Given the description of an element on the screen output the (x, y) to click on. 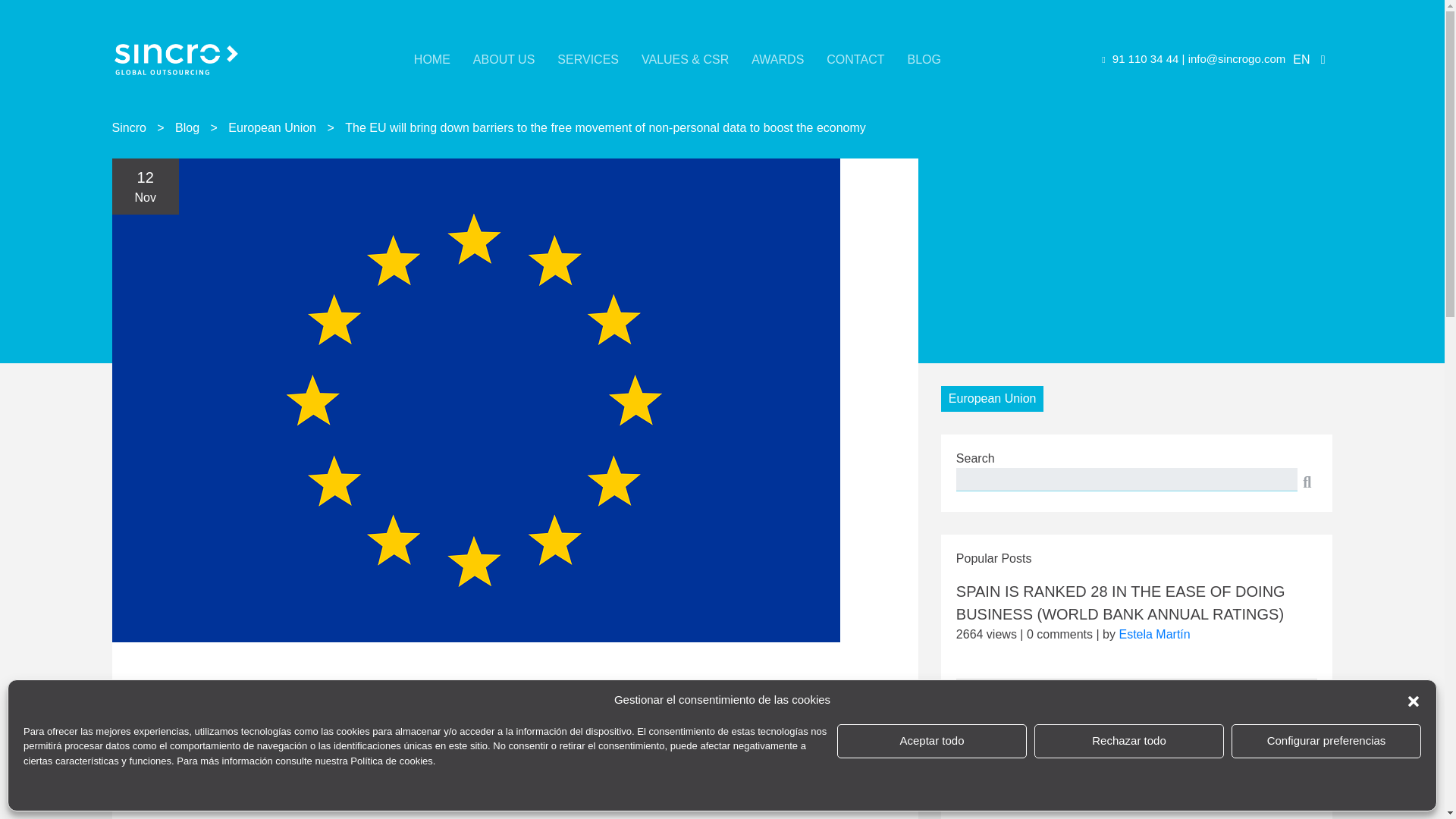
SERVICES (587, 59)
Aceptar todo (931, 740)
HOME (431, 59)
AWARDS (777, 59)
Navbar (176, 59)
Rechazar todo (1128, 740)
Configurar preferencias (1326, 740)
ABOUT US (504, 59)
Go to the European Union category archives. (271, 127)
Go to Sincro. (129, 127)
Go to Blog. (186, 127)
CONTACT (855, 59)
EN (1310, 59)
BLOG (923, 59)
